Given the description of an element on the screen output the (x, y) to click on. 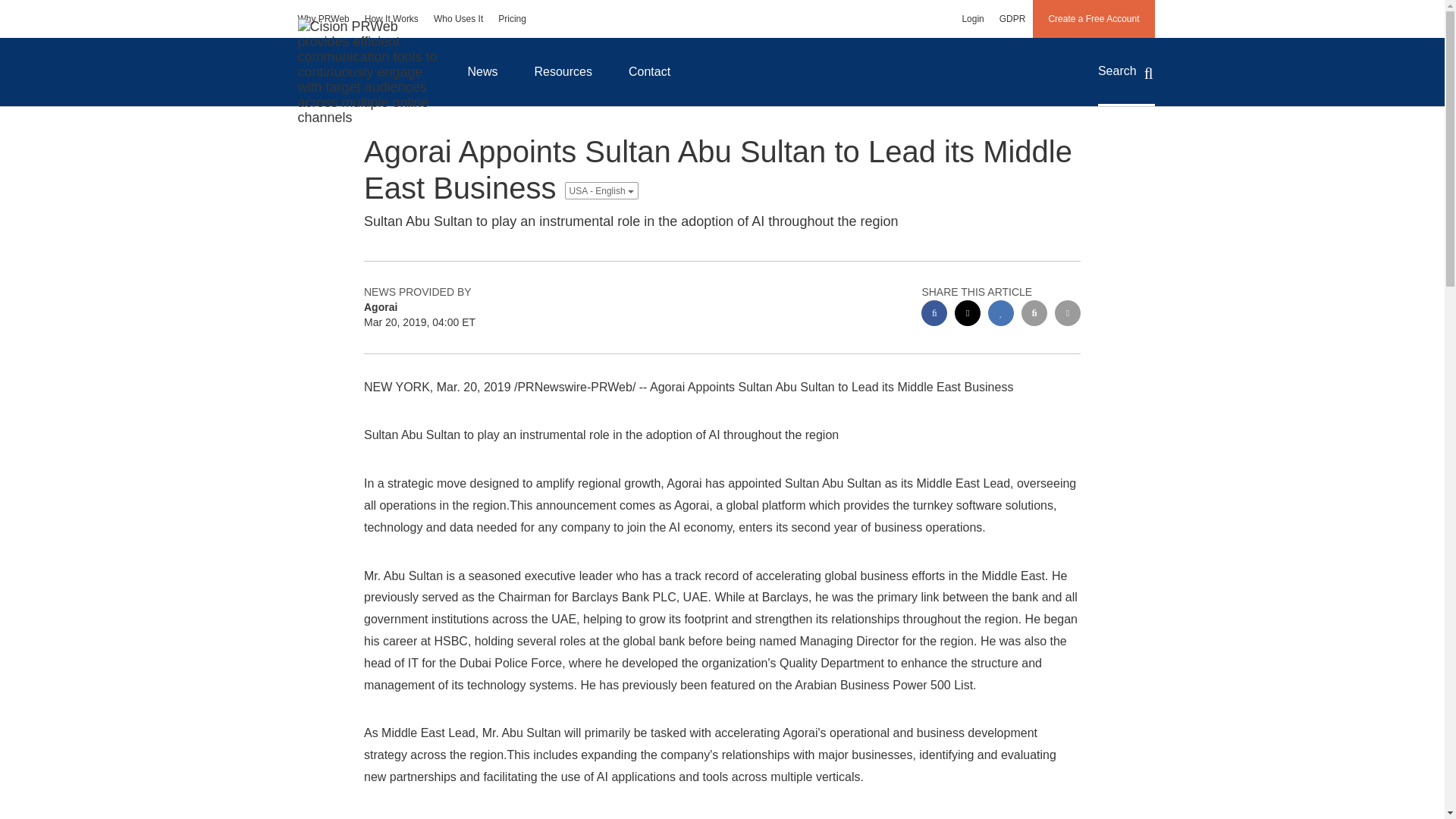
GDPR (1012, 18)
Who Uses It (458, 18)
How It Works (391, 18)
Why PRWeb (322, 18)
Resources (563, 71)
Pricing (512, 18)
News (481, 71)
Contact (649, 71)
Create a Free Account (1093, 18)
